Given the description of an element on the screen output the (x, y) to click on. 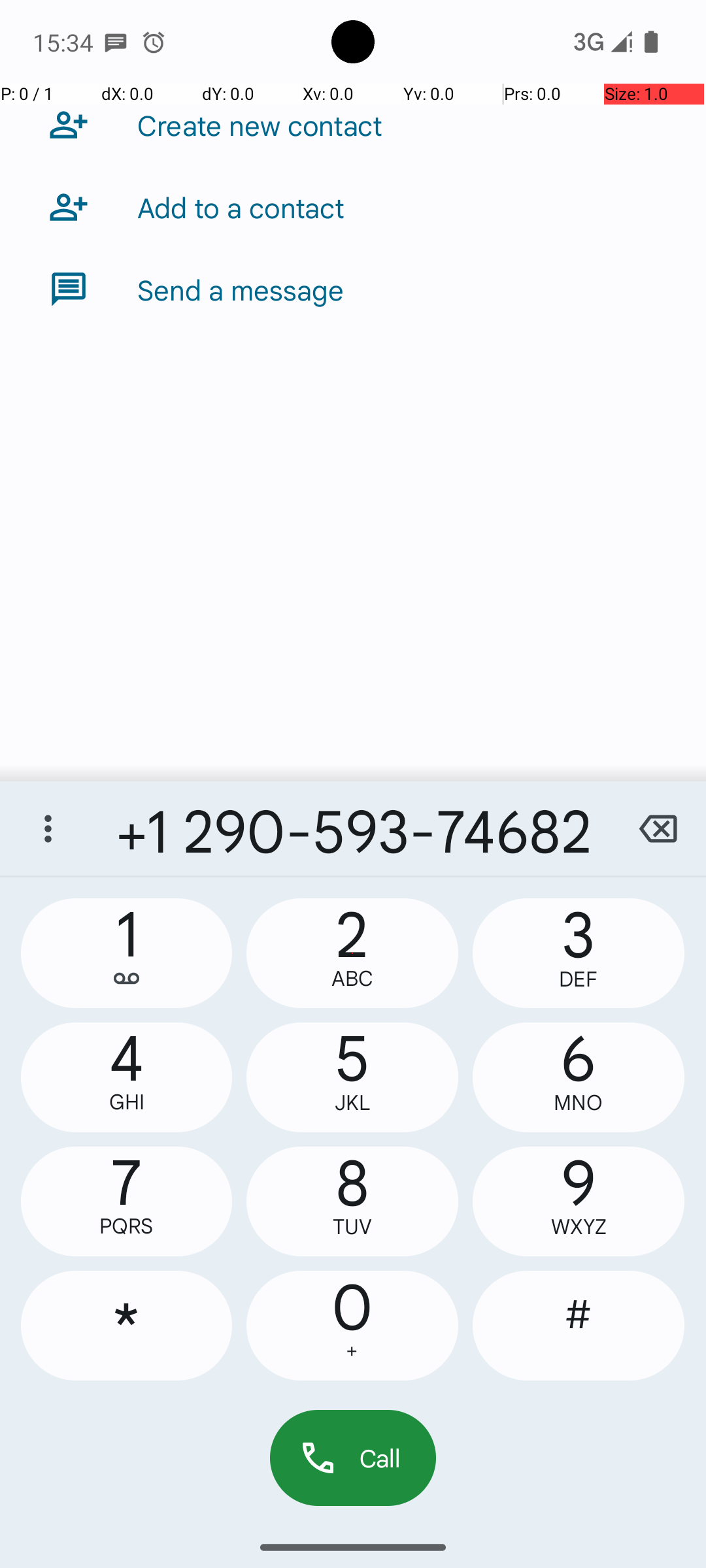
+1 290-593-74682 Element type: android.widget.EditText (352, 828)
